Given the description of an element on the screen output the (x, y) to click on. 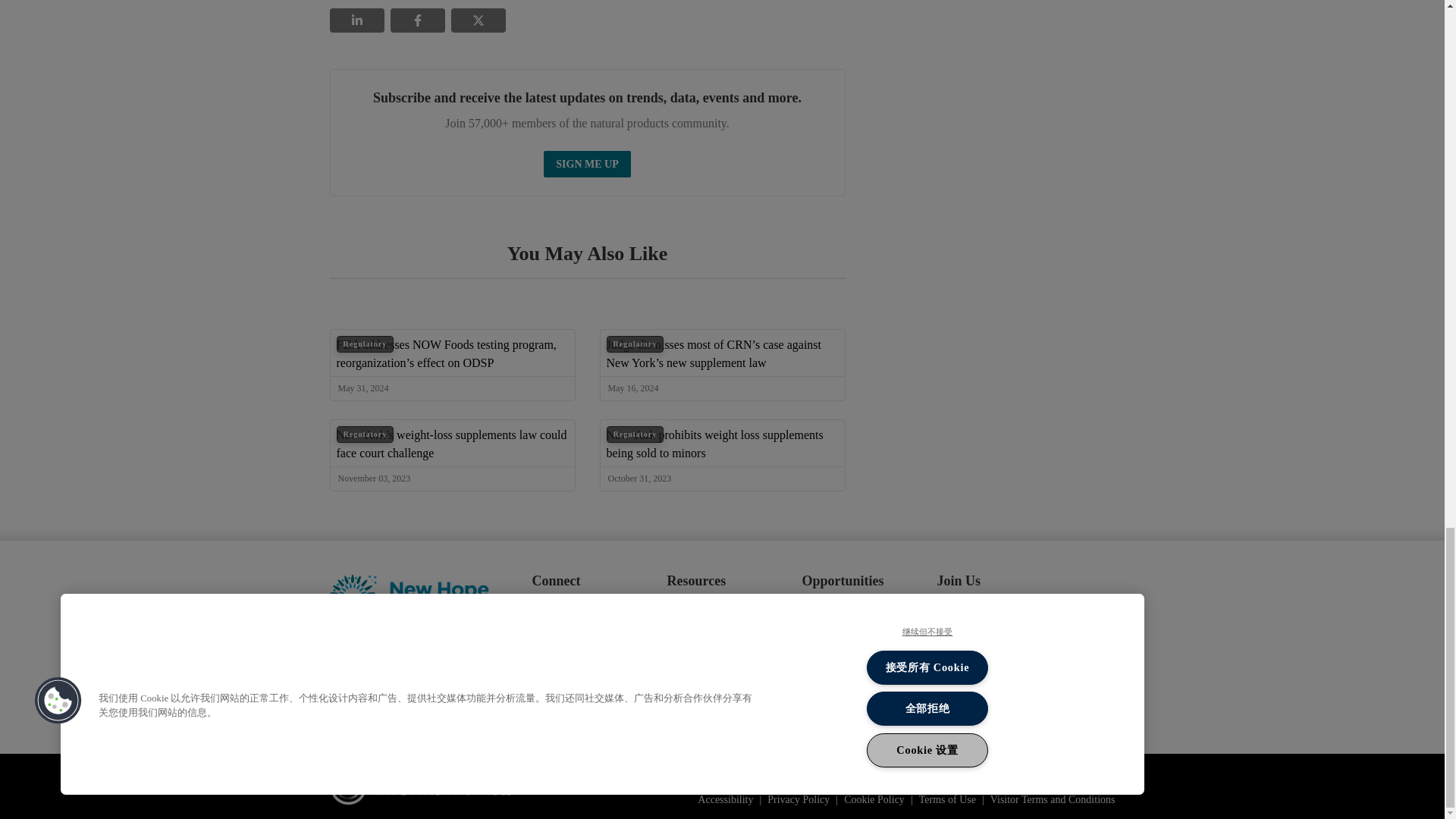
NewHope (410, 594)
Informa Markets (420, 786)
